Given the description of an element on the screen output the (x, y) to click on. 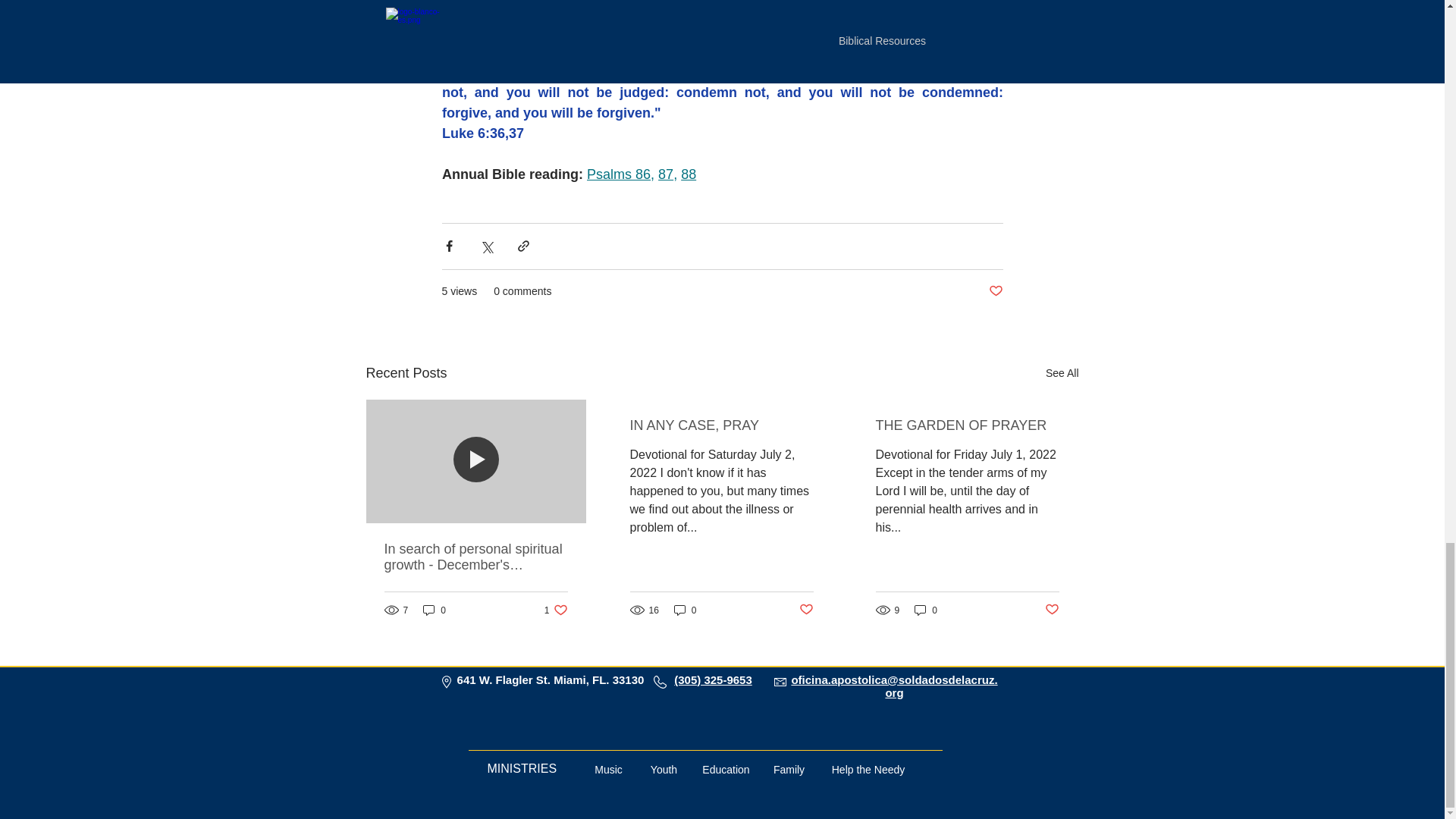
Psalms 86 (618, 174)
0 (434, 609)
See All (1061, 373)
87 (665, 174)
Post not marked as liked (995, 291)
Post not marked as liked (806, 609)
Post not marked as liked (1052, 609)
THE GARDEN OF PRAYER (555, 609)
